Given the description of an element on the screen output the (x, y) to click on. 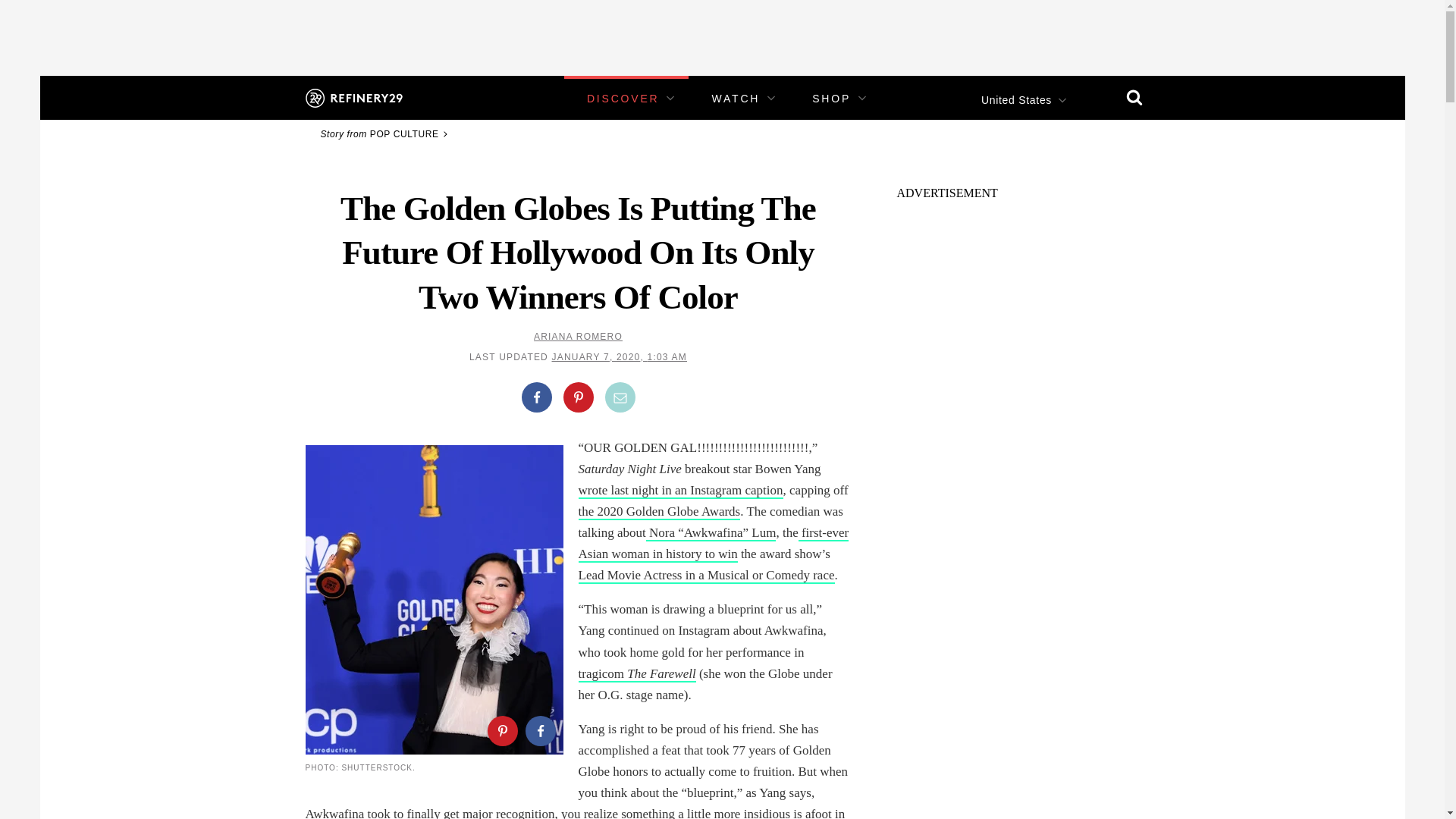
DISCOVER (622, 98)
the 2020 Golden Globe Awards (712, 522)
Share on Facebook (539, 730)
Story from POP CULTURE (385, 133)
Share on Pinterest (501, 730)
SHOP (831, 98)
Share by Email (619, 397)
wrote last night in an Instagram caption (699, 501)
ARIANA ROMERO (578, 336)
WATCH (735, 98)
JANUARY 7, 2020, 1:03 AM (619, 357)
first-ever Asian woman in history to win (713, 543)
Share on Pinterest (577, 397)
tragicom The Farewell (690, 684)
Share on Facebook (536, 397)
